Given the description of an element on the screen output the (x, y) to click on. 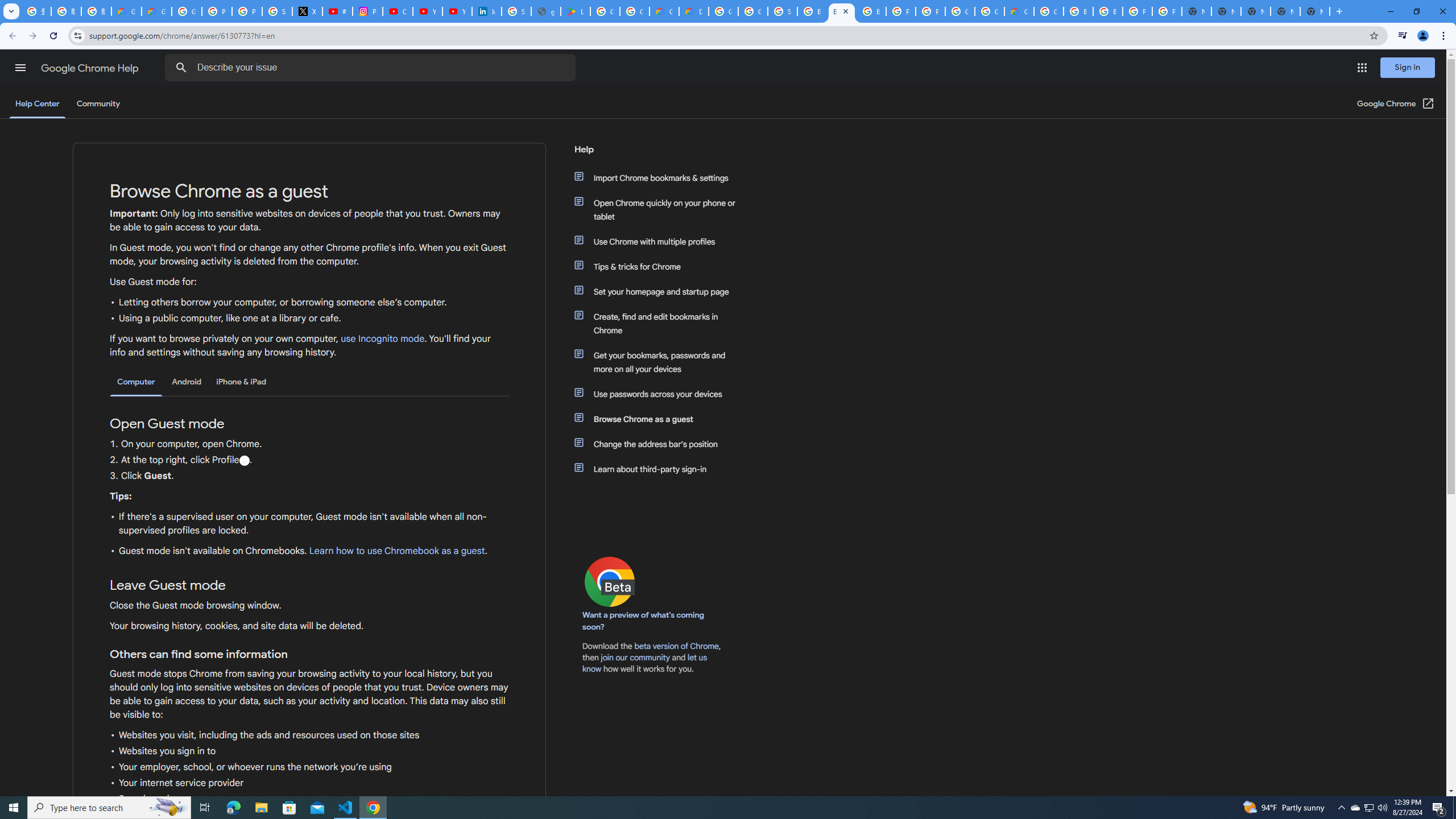
Google Chrome Help (90, 68)
Browse Chrome as a guest - Computer - Google Chrome Help (811, 11)
Sign in - Google Accounts (782, 11)
Main menu (20, 67)
Google Cloud Platform (959, 11)
Help (656, 153)
Restore (1416, 11)
Browse Chrome as a guest - Computer - Google Chrome Help (1077, 11)
Government | Google Cloud (664, 11)
Identity verification via Persona | LinkedIn Help (486, 11)
Community (97, 103)
